Given the description of an element on the screen output the (x, y) to click on. 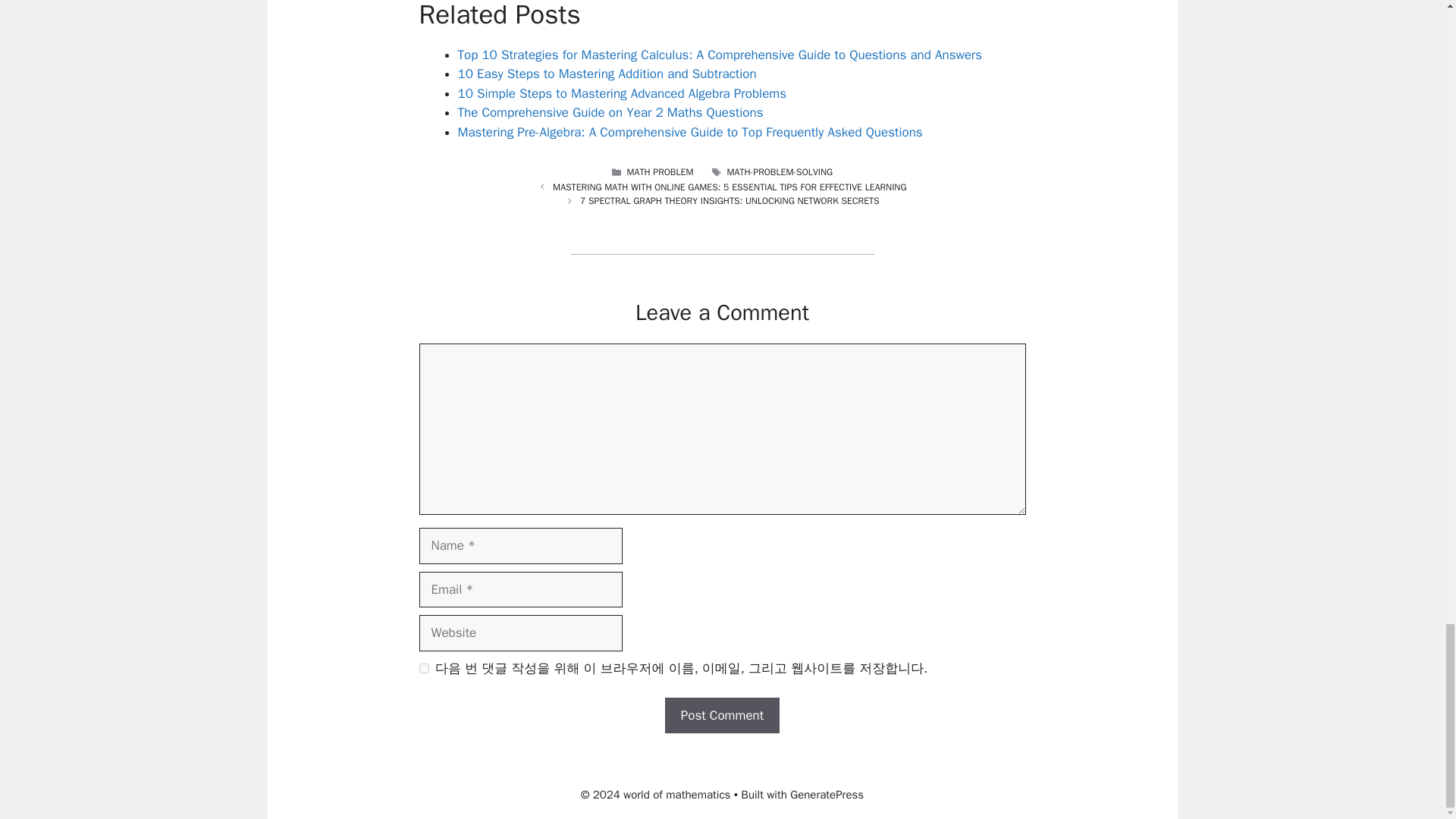
Post Comment (721, 715)
GeneratePress (826, 794)
10 Simple Steps to Mastering Advanced Algebra Problems (622, 93)
The Comprehensive Guide on Year 2 Maths Questions (610, 112)
MATH-PROBLEM-SOLVING (779, 172)
MATH PROBLEM (659, 172)
Post Comment (721, 715)
7 SPECTRAL GRAPH THEORY INSIGHTS: UNLOCKING NETWORK SECRETS (729, 200)
yes (423, 668)
10 Easy Steps to Mastering Addition and Subtraction (607, 73)
